Given the description of an element on the screen output the (x, y) to click on. 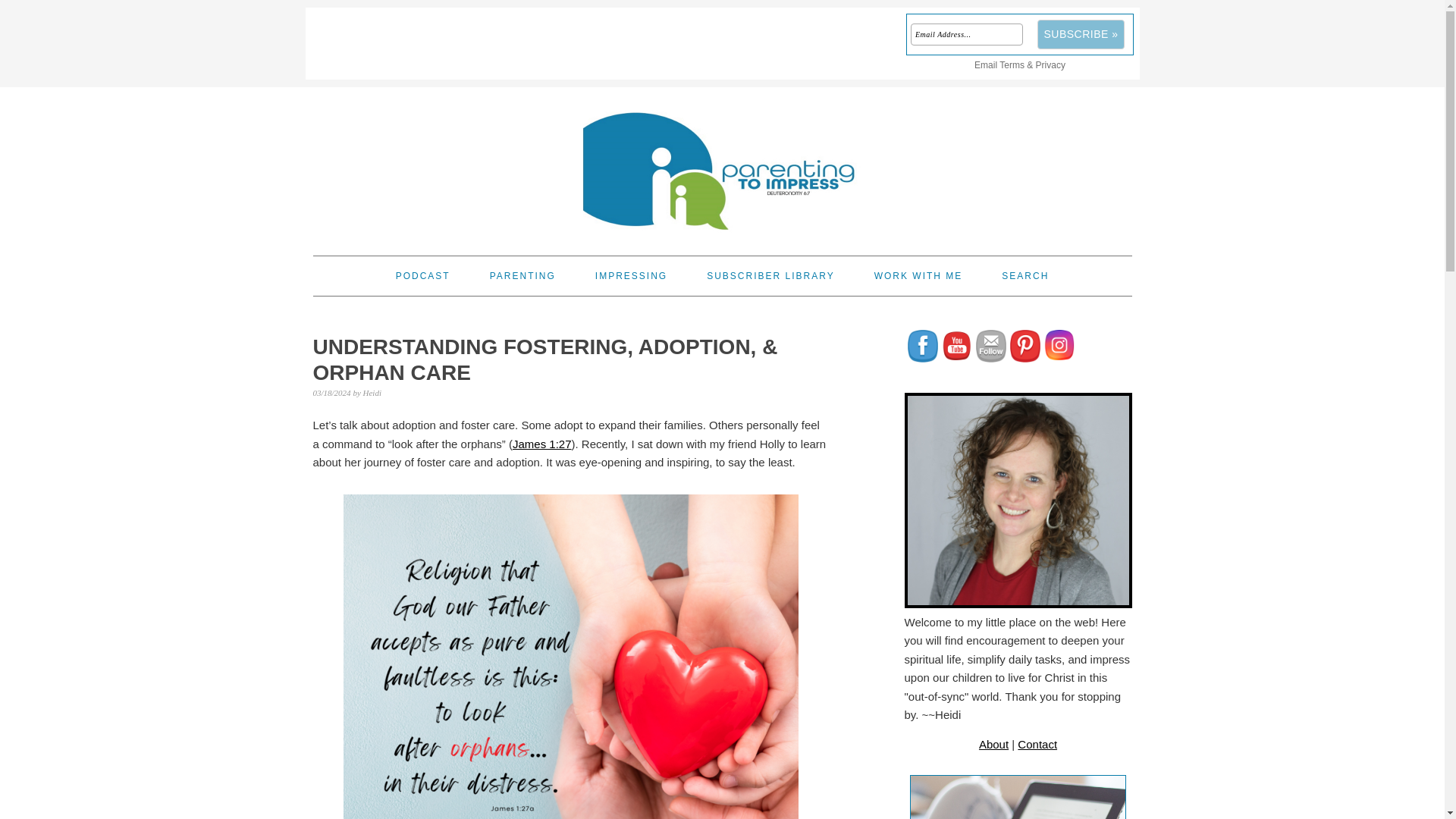
SEARCH (1024, 275)
PARENTING TO IMPRESS (722, 164)
Heidi (371, 392)
Pinterest (1025, 346)
Email Address... (967, 34)
Privacy (1050, 64)
Email subscriptions terms of service (1011, 64)
SUBSCRIBER LIBRARY (770, 275)
Parenting to Impress Podcast (422, 275)
YouTube (957, 345)
Follow by Email (990, 346)
PARENTING (522, 275)
Facebook (922, 346)
PODCAST (422, 275)
